Given the description of an element on the screen output the (x, y) to click on. 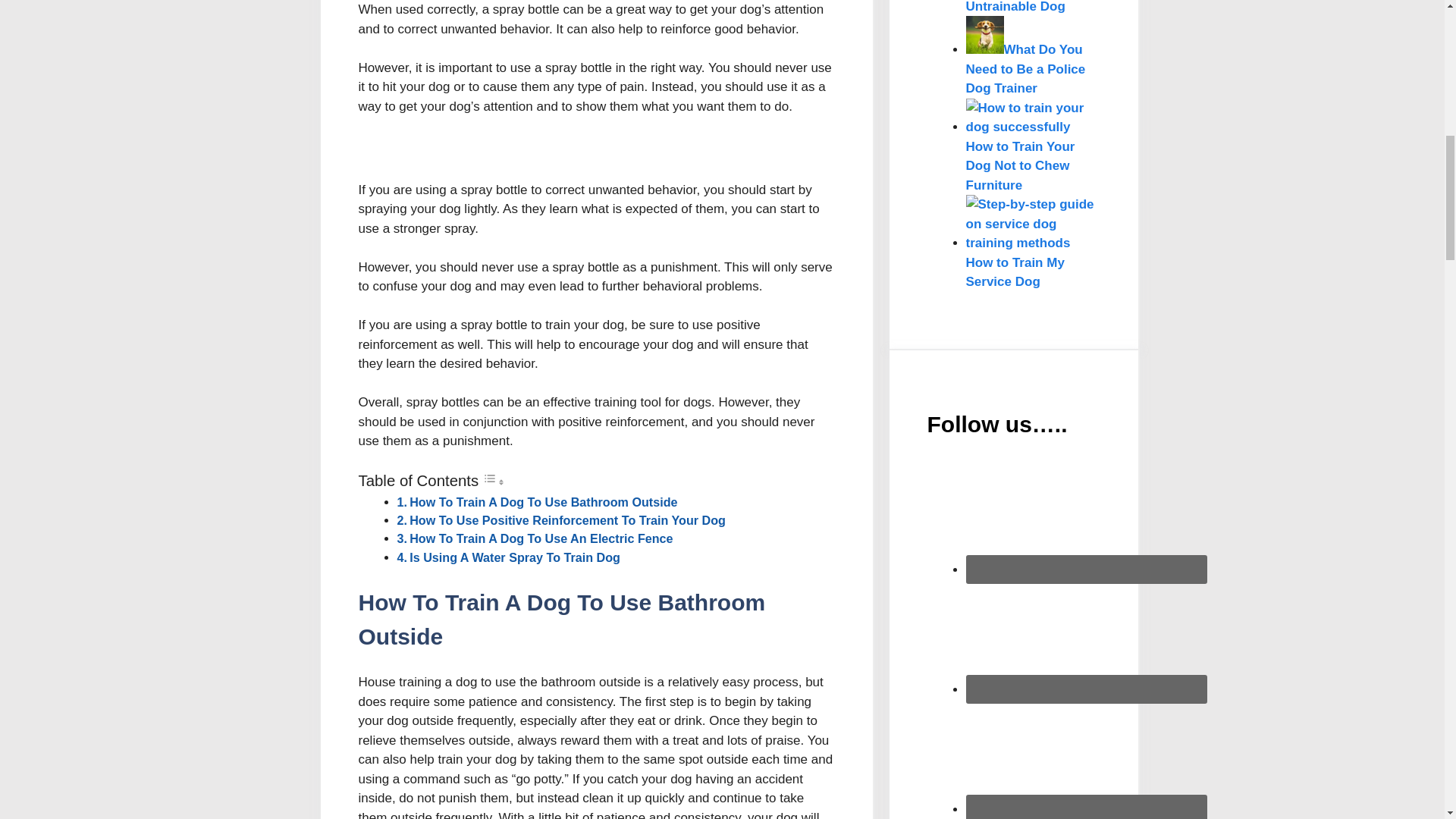
How To Train A Dog To Use An Electric Fence (540, 538)
How To Train A Dog To Use Bathroom Outside (543, 501)
How To Train A Dog To Use Bathroom Outside (543, 501)
Facebook (1085, 636)
How To Use Positive Reinforcement To Train Your Dog (567, 520)
Is Using A Water Spray To Train Dog (514, 557)
Pinterest (1085, 757)
Email (1085, 517)
